Given the description of an element on the screen output the (x, y) to click on. 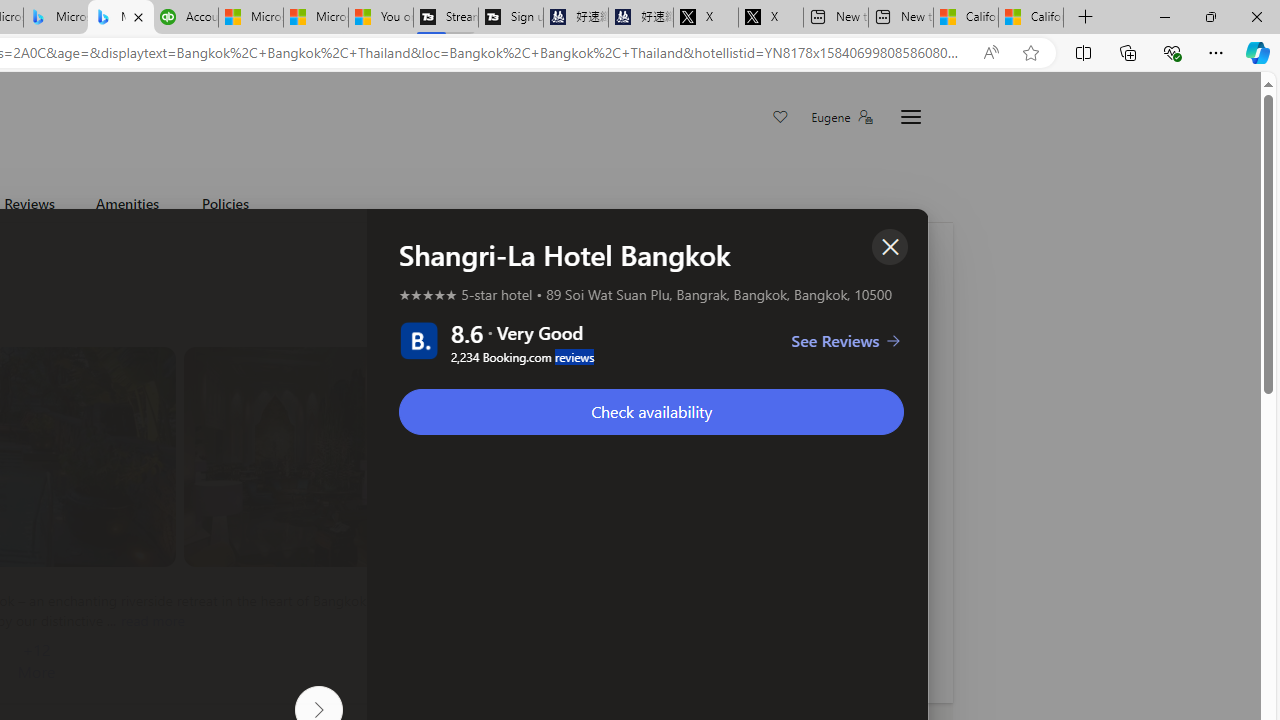
X (770, 17)
